Given the description of an element on the screen output the (x, y) to click on. 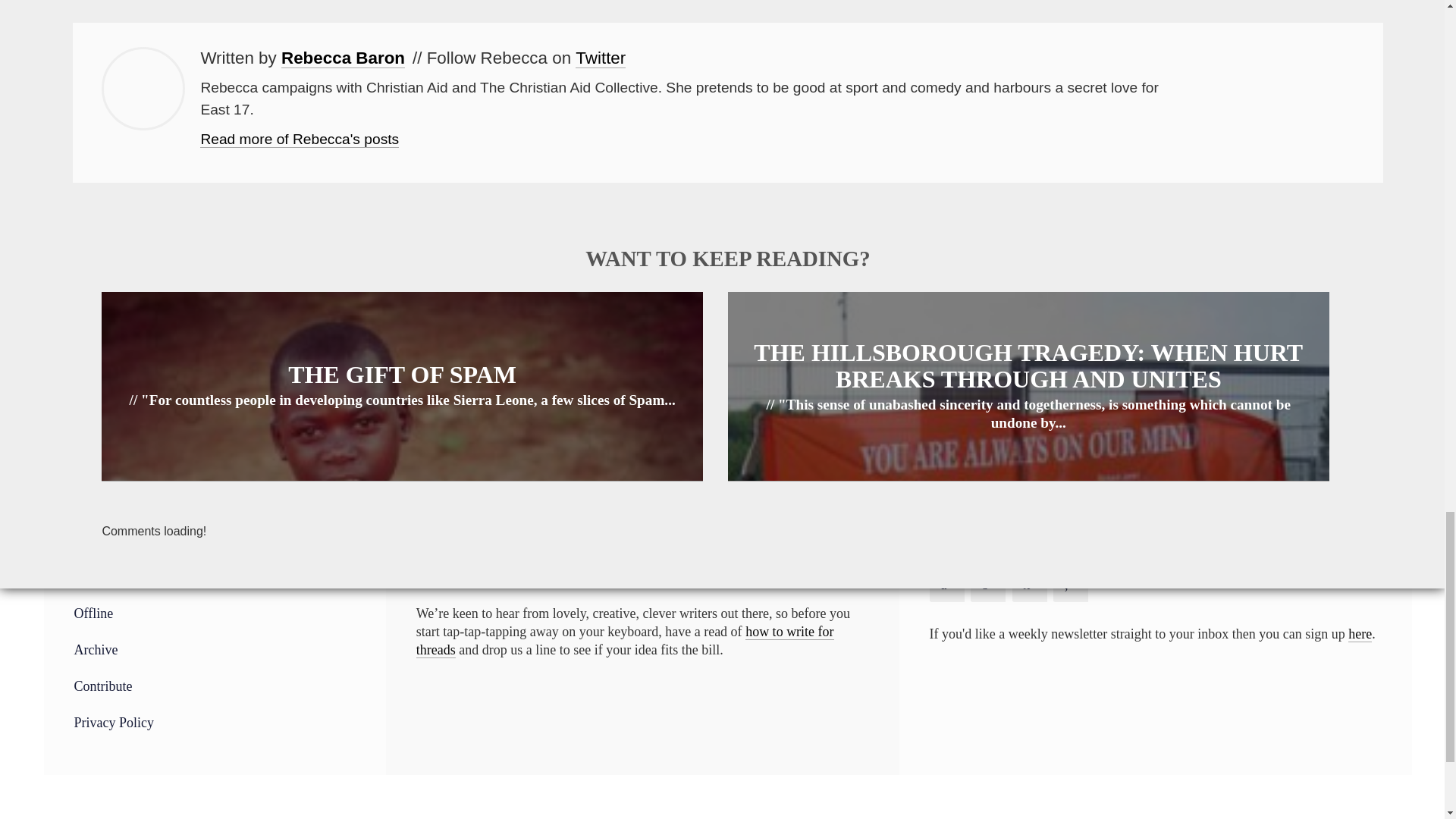
Read more of Rebecca's posts (299, 139)
Avatar for Rebecca Baron (142, 88)
Twitter (600, 57)
Rebecca Baron (342, 57)
